Given the description of an element on the screen output the (x, y) to click on. 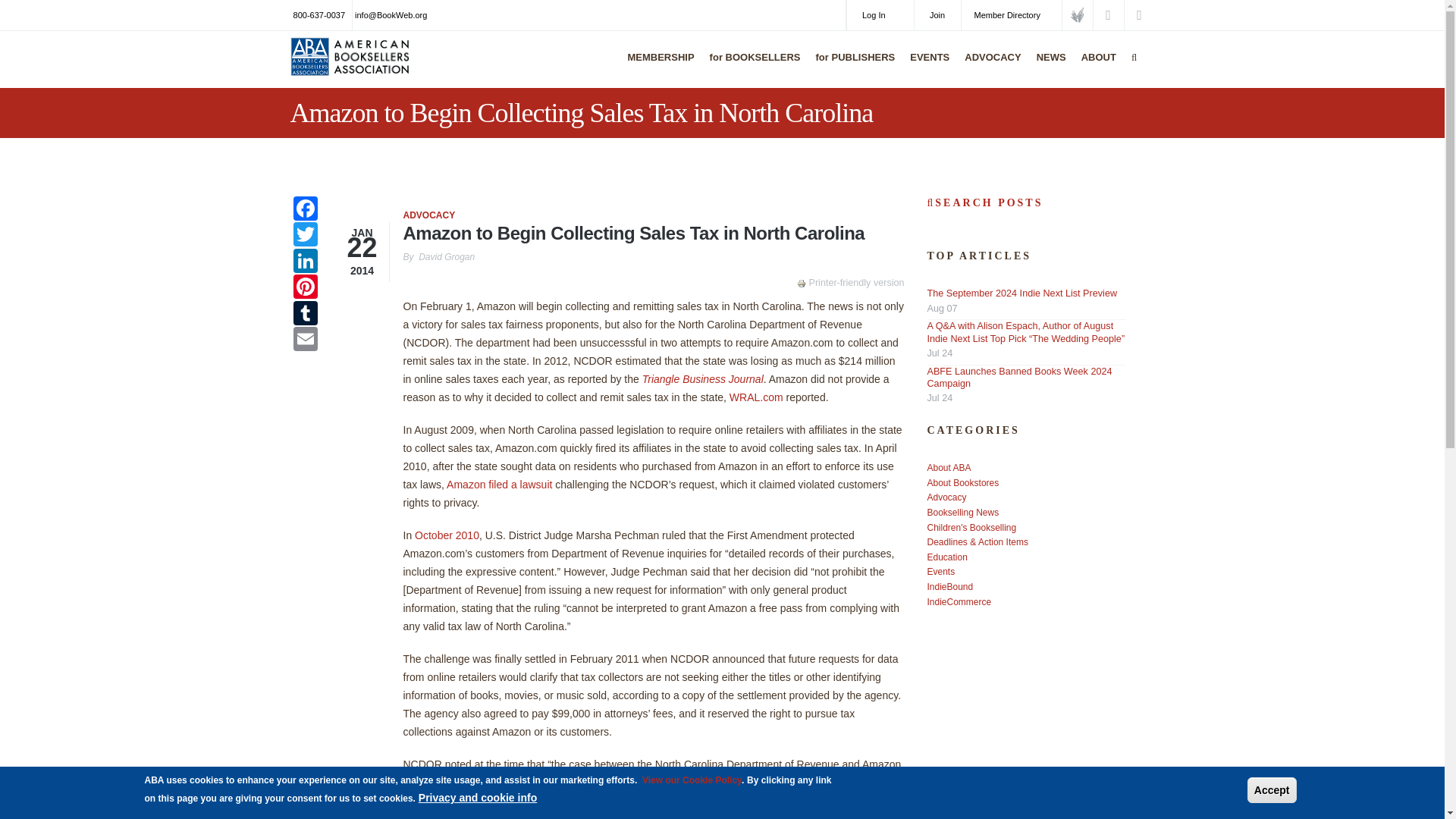
Display a printer-friendly version of this page. (850, 282)
Join (937, 15)
NEWS (1047, 66)
ABOUT (1094, 66)
Member Directory (1010, 15)
MEMBERSHIP (656, 66)
Privacy and cookie info (478, 797)
EVENTS (925, 66)
Log In (880, 15)
for BOOKSELLERS (751, 66)
